Given the description of an element on the screen output the (x, y) to click on. 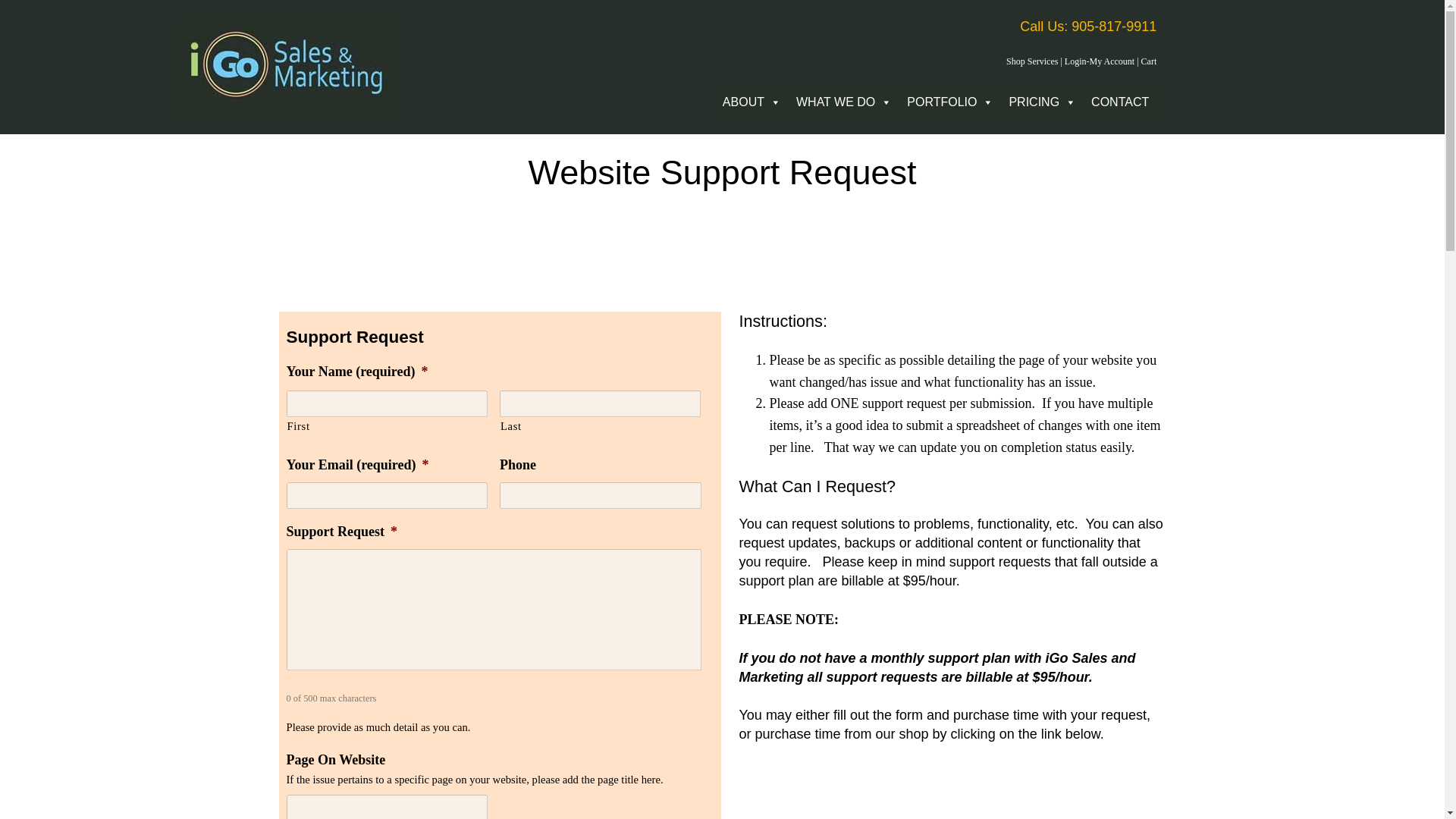
ABOUT (751, 101)
Cart (1149, 61)
Login-My Account (1099, 61)
WHAT WE DO (844, 101)
Shop Services (1032, 61)
